Given the description of an element on the screen output the (x, y) to click on. 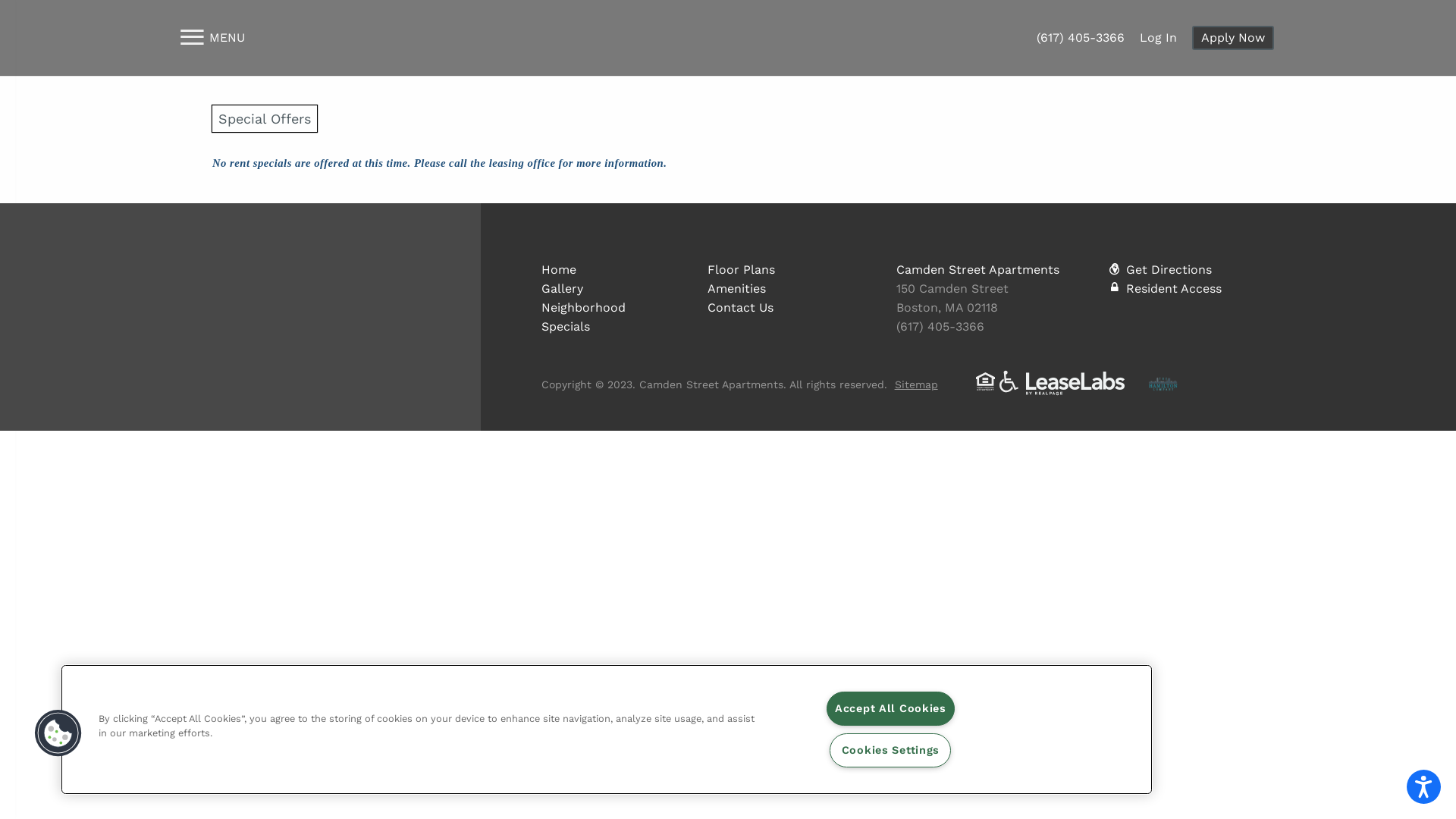
(617) 405-3366 Element type: text (940, 326)
The Hamilton Company Element type: hover (1162, 383)
Floor Plans Element type: text (741, 269)
Cookies Button Element type: text (58, 733)
Apply Now Element type: text (1233, 37)
Contact Us Element type: text (740, 307)
Home Element type: text (558, 269)
Gallery Element type: text (562, 288)
Neighborhood Element type: text (583, 307)
Specials Element type: text (565, 326)
Sitemap Element type: text (919, 384)
Cookies Settings Element type: text (889, 750)
Get Directions Element type: text (1168, 269)
Amenities Element type: text (736, 288)
Log In Element type: text (1157, 37)
Resident Access Element type: text (1173, 288)
Accept All Cookies Element type: text (890, 708)
(617) 405-3366 Element type: text (1080, 37)
